Given the description of an element on the screen output the (x, y) to click on. 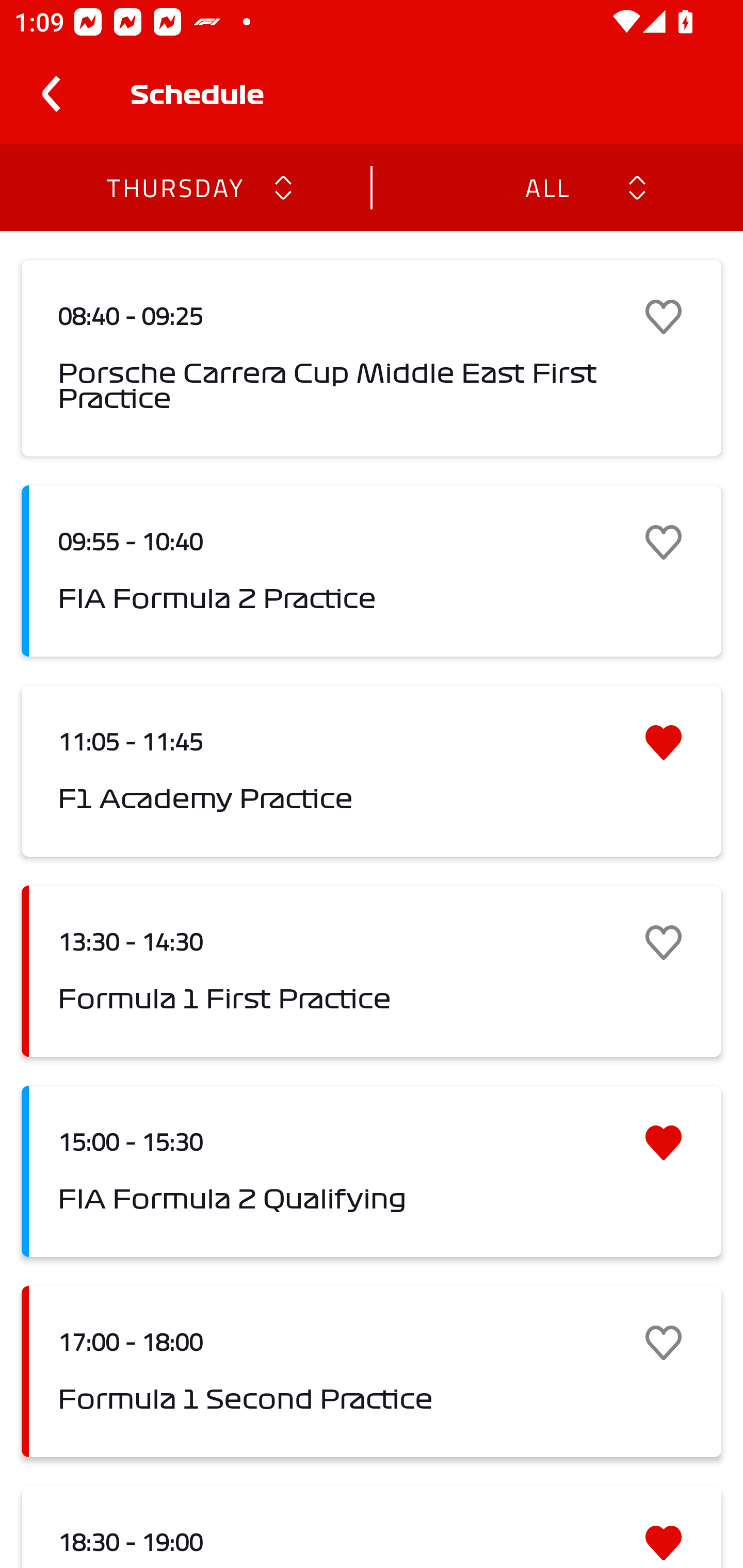
Navigate up (50, 93)
THURSDAY (174, 187)
ALL (546, 187)
09:55 - 10:40 FIA Formula 2 Practice (371, 571)
11:05 - 11:45 F1 Academy Practice (371, 770)
13:30 - 14:30 Formula 1 First Practice (371, 970)
15:00 - 15:30 FIA Formula 2 Qualifying (371, 1171)
17:00 - 18:00 Formula 1 Second Practice (371, 1370)
18:30 - 19:00 (371, 1527)
